Given the description of an element on the screen output the (x, y) to click on. 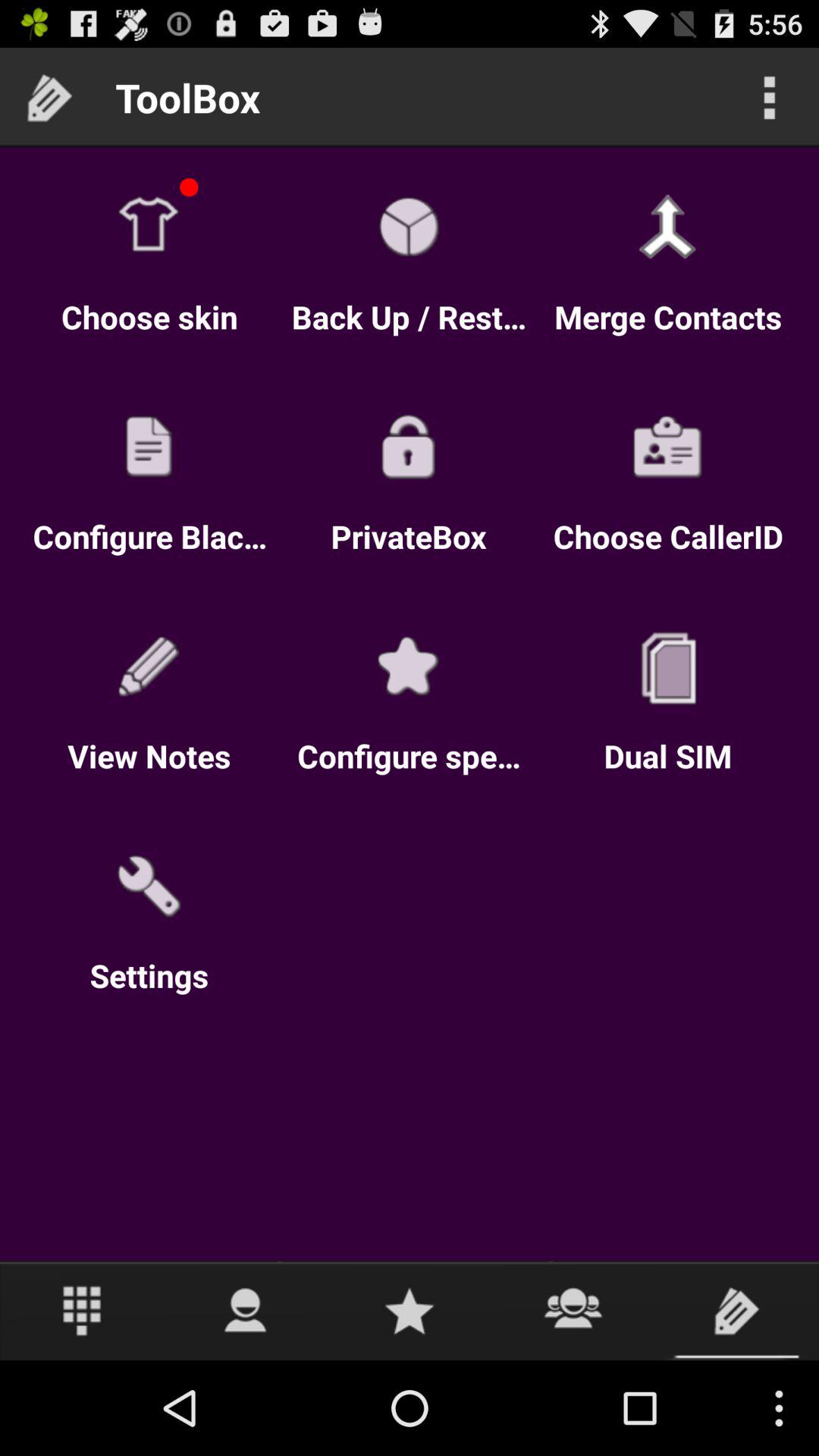
share (573, 1310)
